Given the description of an element on the screen output the (x, y) to click on. 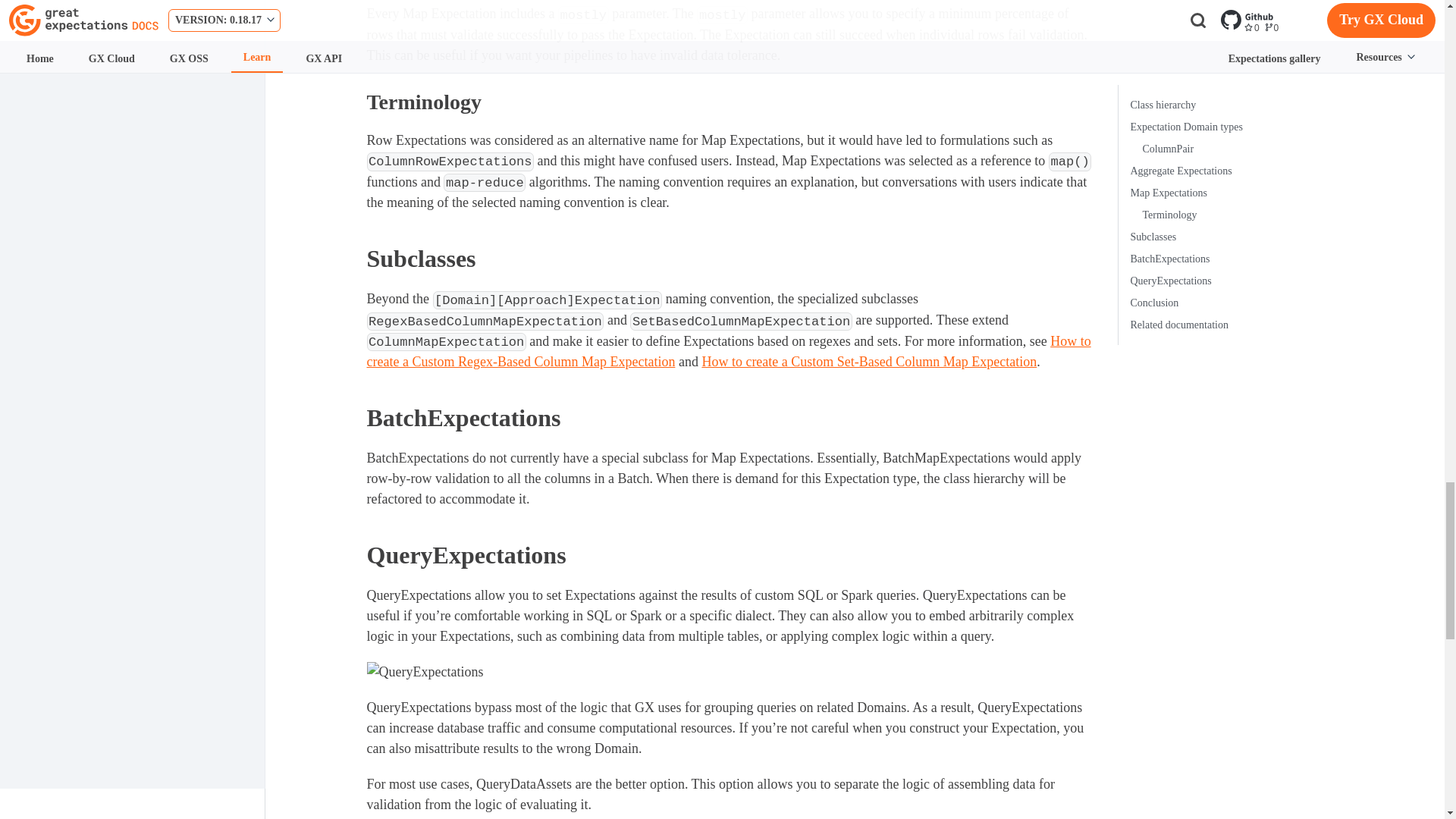
How to create a Custom Set-Based Column Map Expectation (868, 361)
How to create a Custom Regex-Based Column Map Expectation (728, 351)
